Given the description of an element on the screen output the (x, y) to click on. 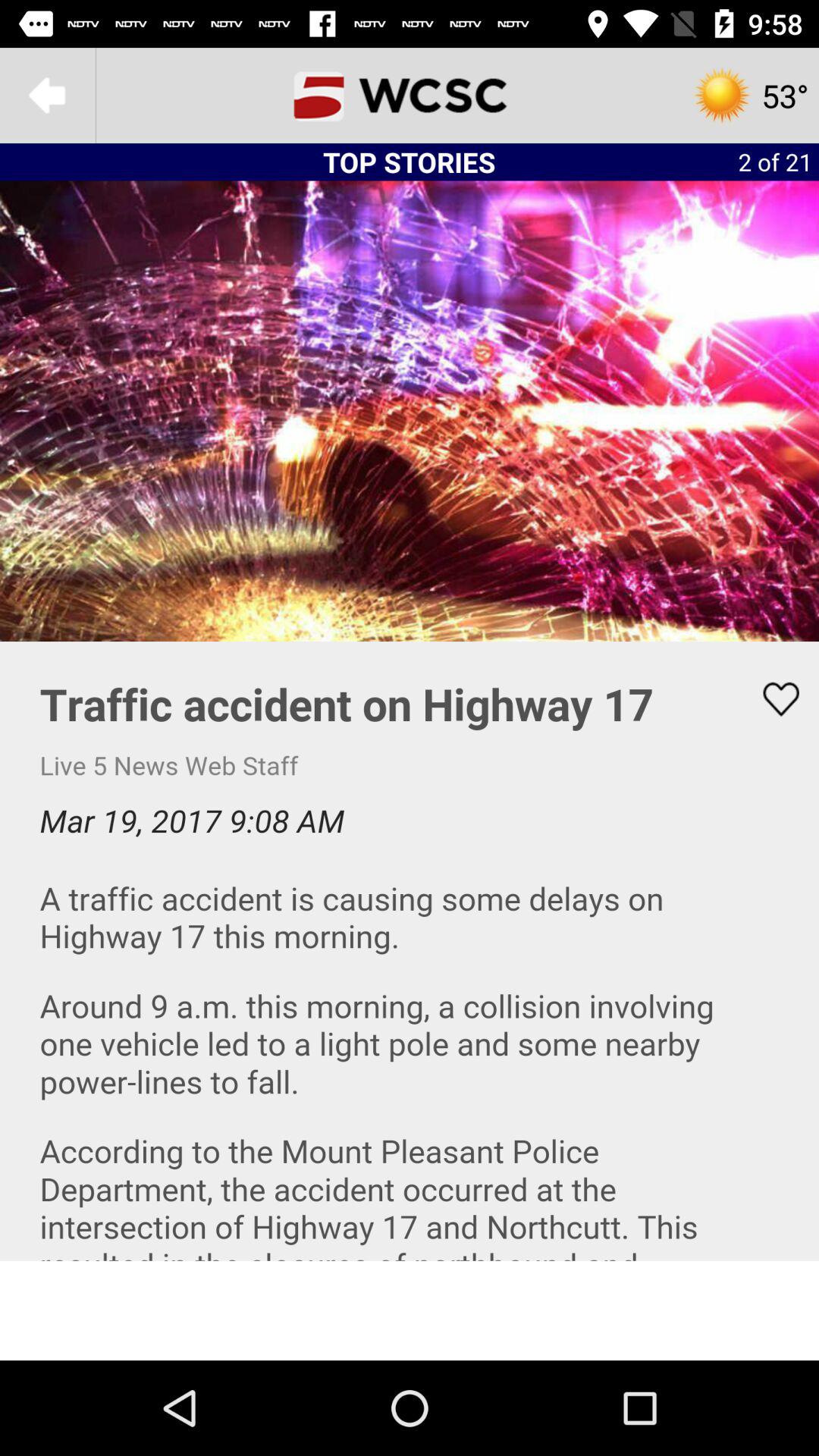
comments box (409, 950)
